Given the description of an element on the screen output the (x, y) to click on. 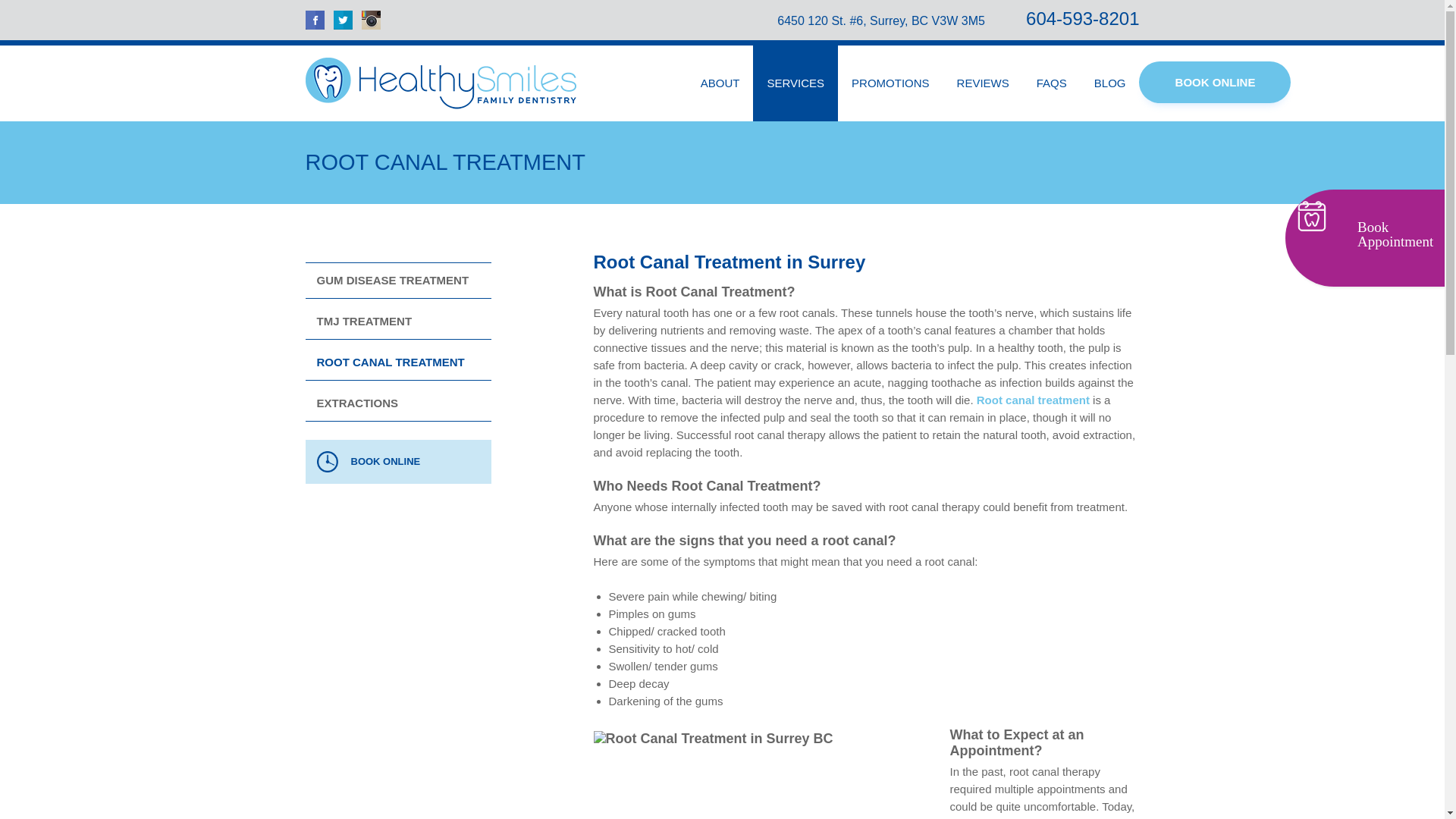
ABOUT (720, 83)
